Given the description of an element on the screen output the (x, y) to click on. 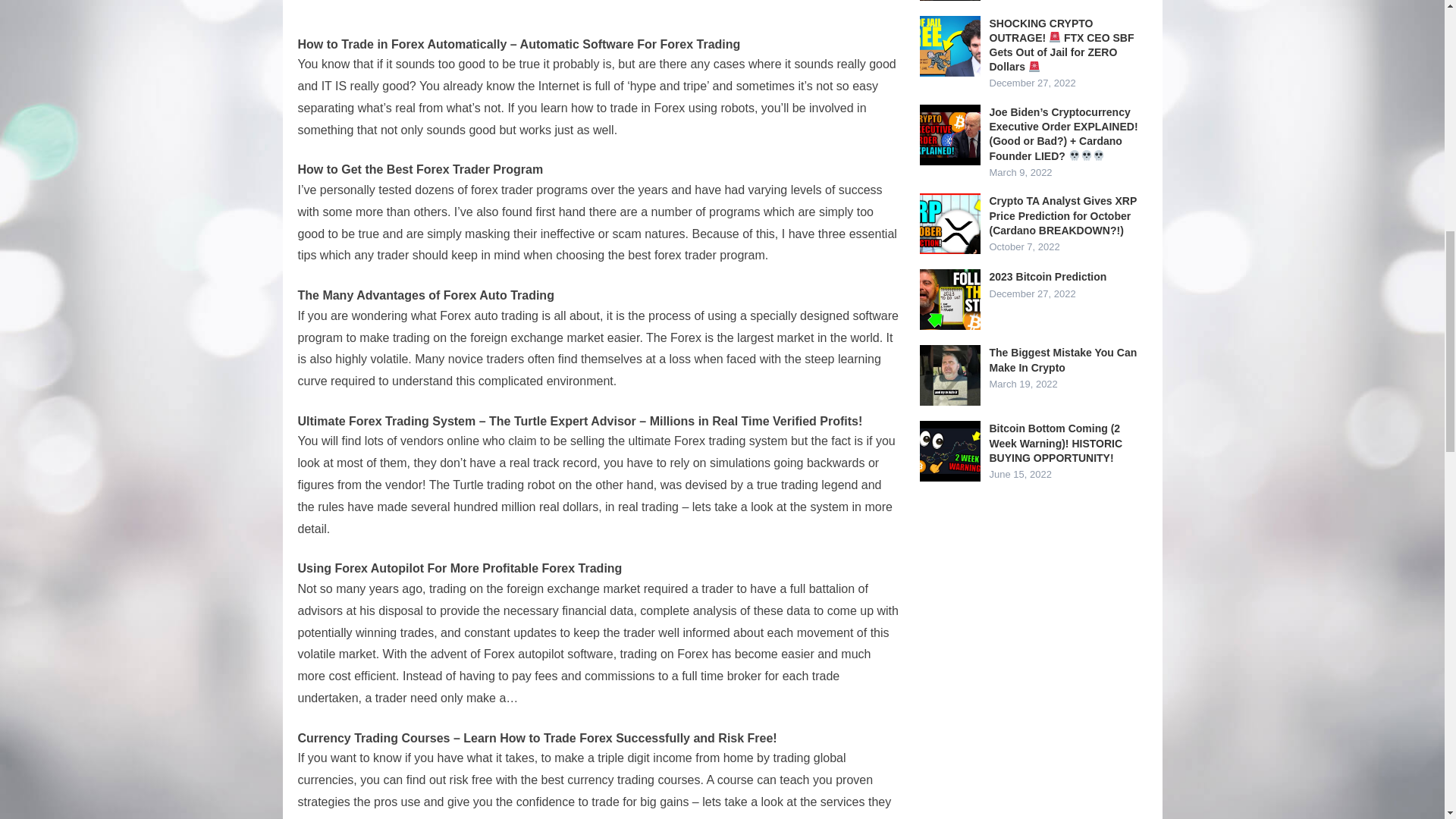
Everdome - Realistic Metaverse Overview with Rob Gryn 16 (948, 0)
2023 Bitcoin Prediction 20 (948, 299)
The Biggest Mistake You Can Make In Crypto 21 (948, 374)
